Given the description of an element on the screen output the (x, y) to click on. 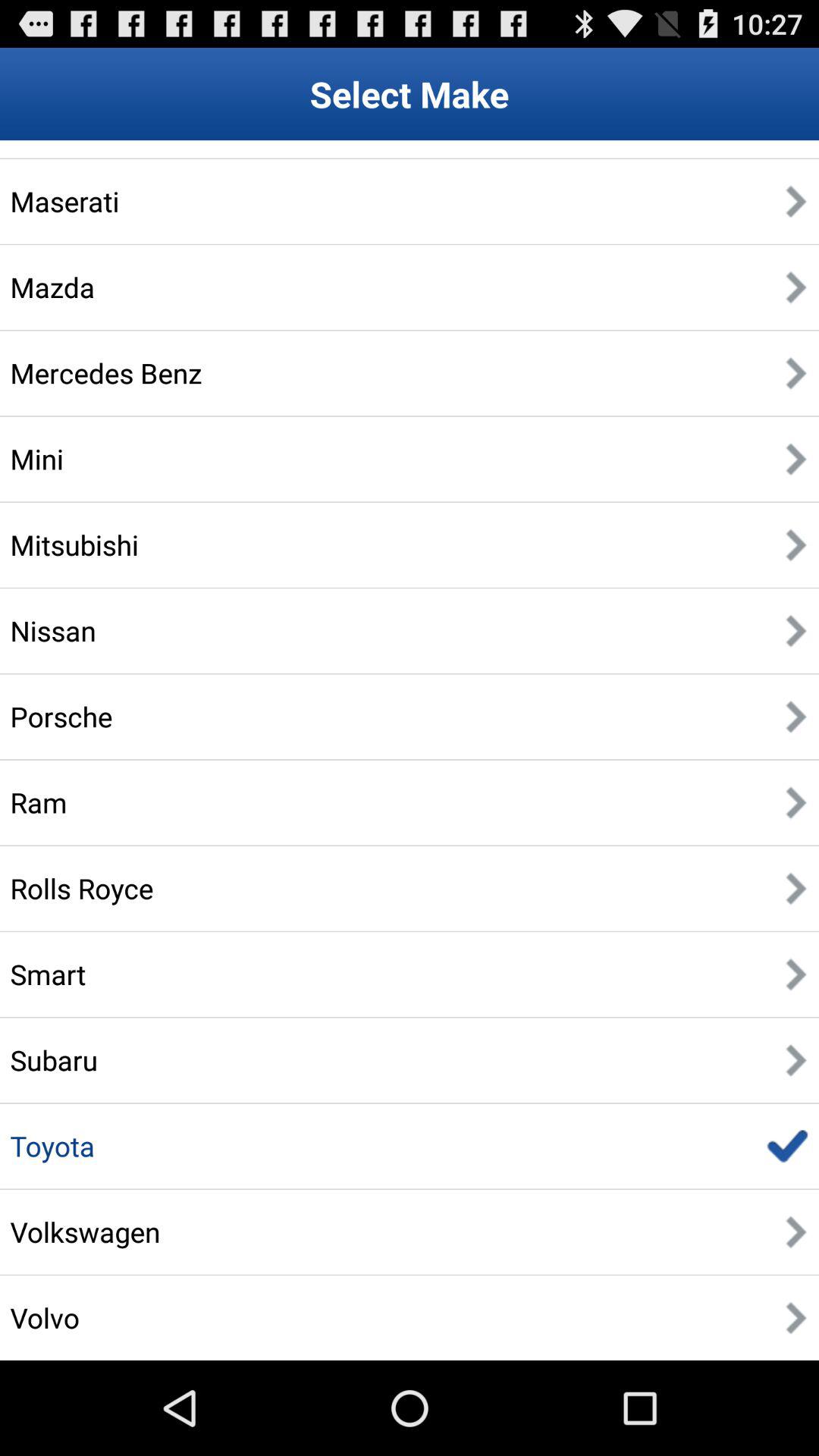
tap item above the ram (61, 716)
